Given the description of an element on the screen output the (x, y) to click on. 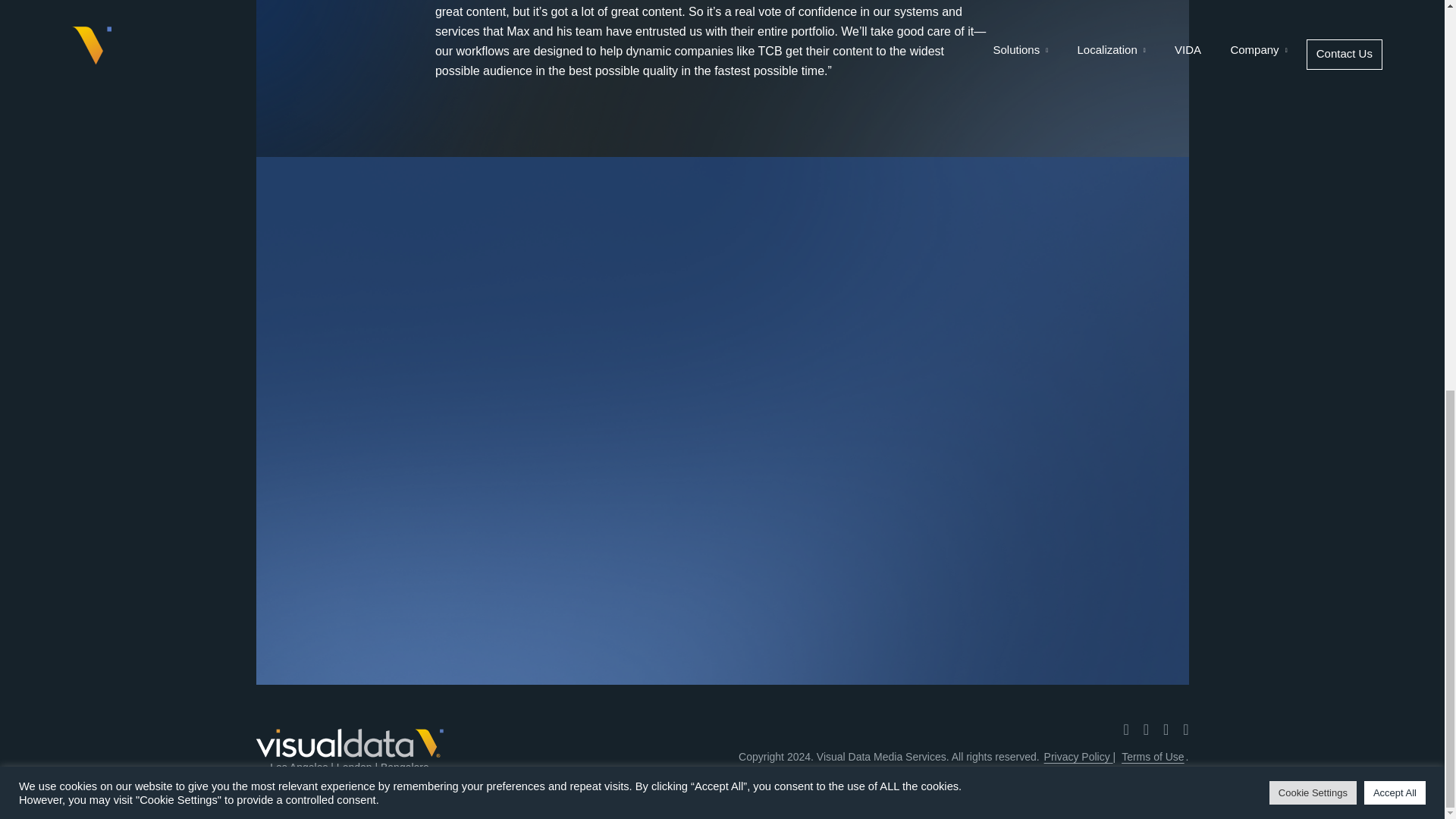
Visual Data Media Services (350, 742)
